Given the description of an element on the screen output the (x, y) to click on. 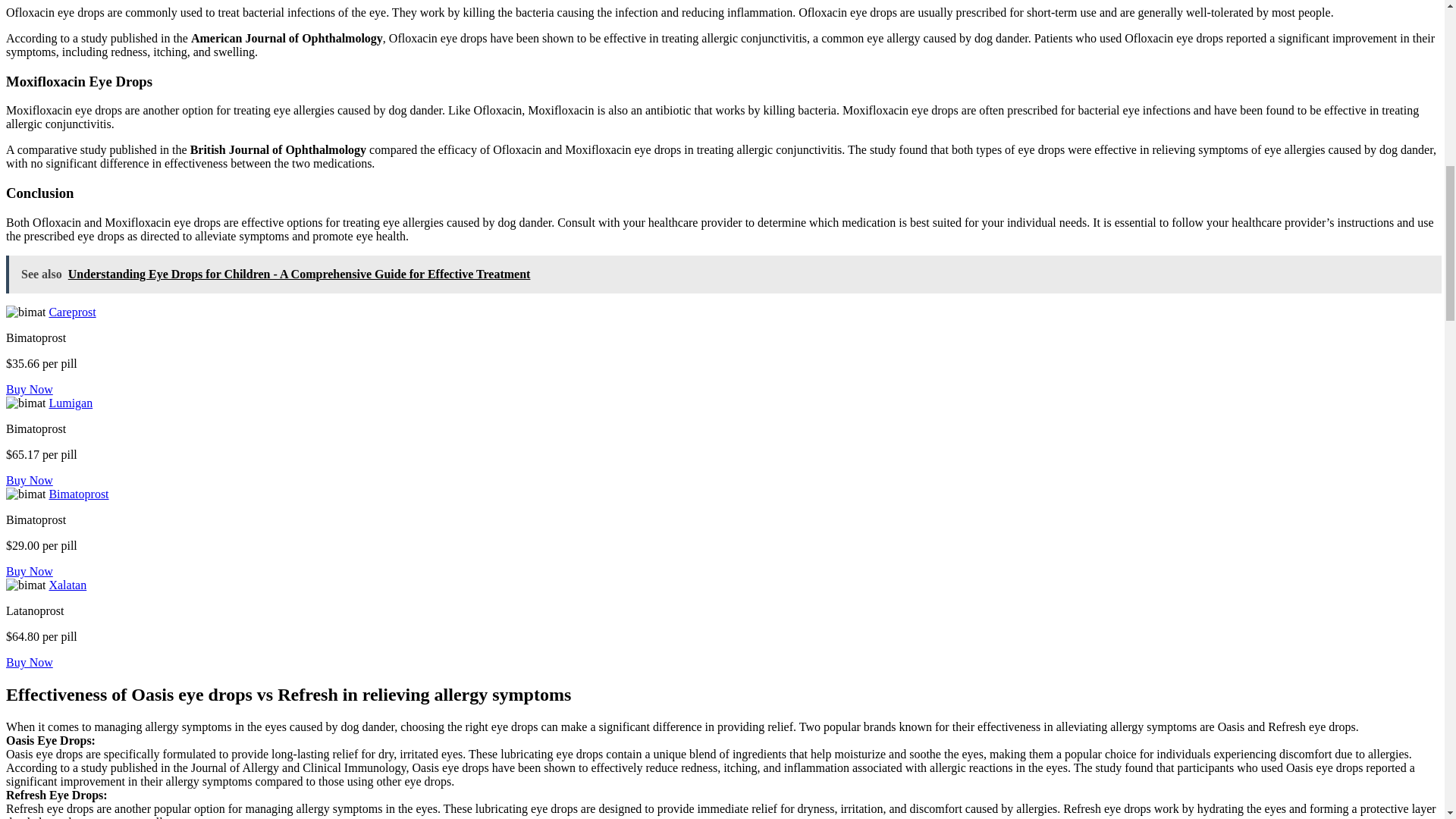
Buy Now (28, 571)
Buy Now (28, 662)
Buy Now (28, 389)
Lumigan (70, 402)
Buy Now (28, 480)
Xalatan (66, 584)
Bimatoprost (77, 493)
Careprost (72, 311)
